Given the description of an element on the screen output the (x, y) to click on. 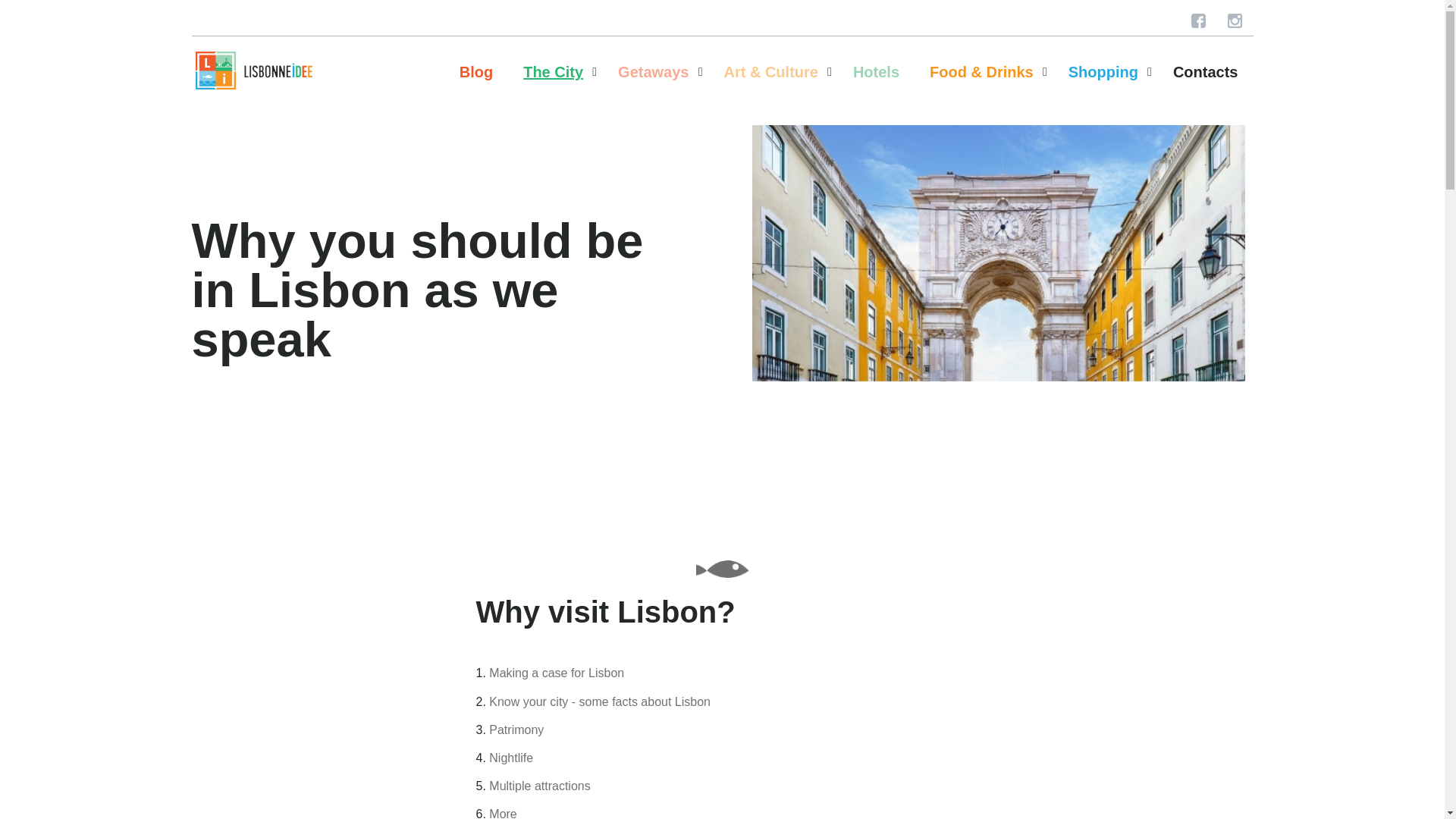
Helpful Links (618, 116)
Know your city - some facts about Lisbon (599, 701)
Getaways (653, 71)
The City (553, 71)
Shopping (1103, 71)
Nightlife (510, 757)
Patrimony (516, 729)
The City (553, 71)
Blog (475, 71)
The City (618, 116)
